Given the description of an element on the screen output the (x, y) to click on. 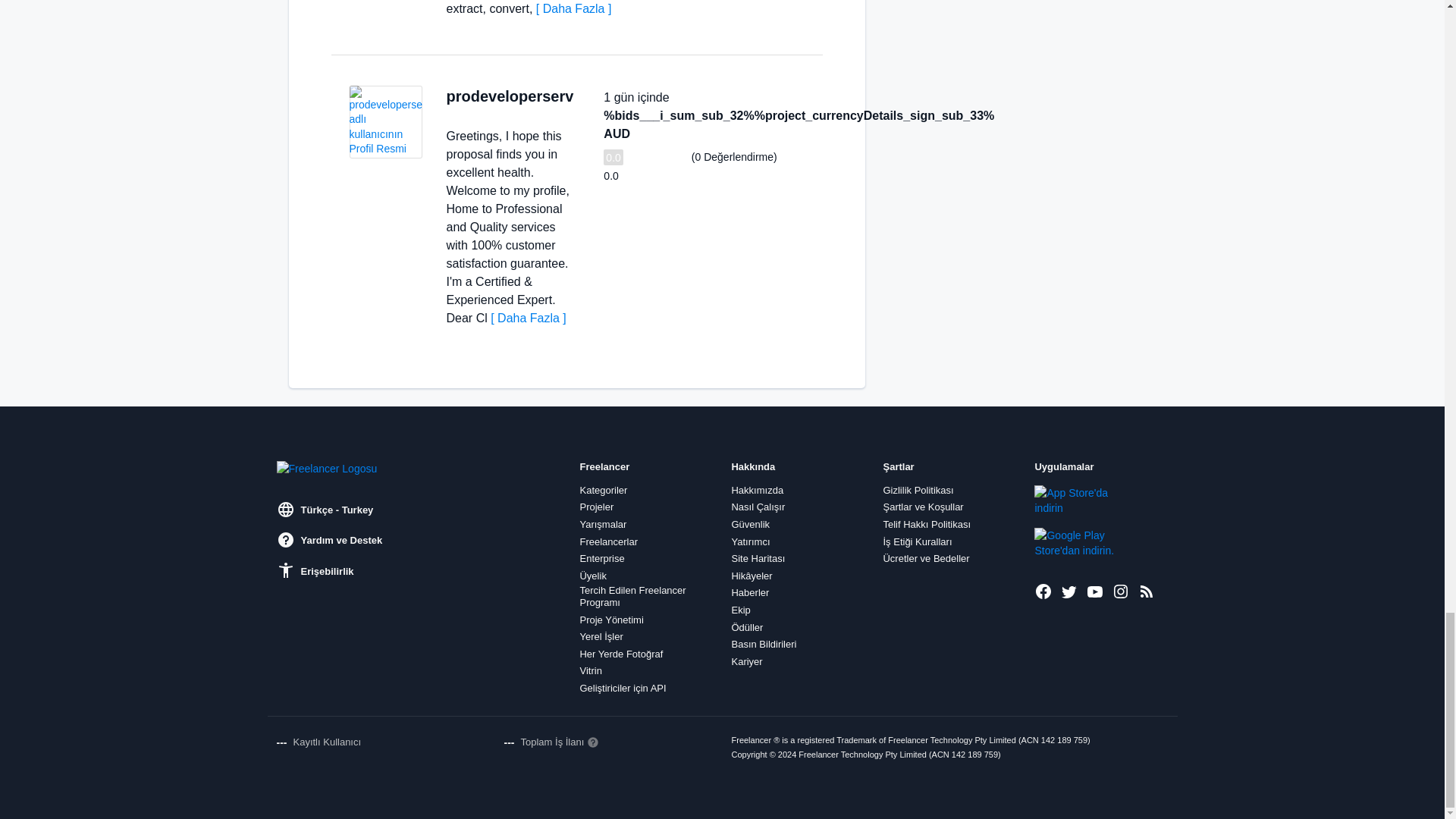
Daha Fazla (573, 8)
Daha Fazla (528, 318)
Facebook'da Freelancer (1042, 591)
Twitter'da Freelancer (1068, 591)
United States (452, 112)
Google Play'den Edinin (1085, 542)
prodeveloperserv (509, 95)
